Given the description of an element on the screen output the (x, y) to click on. 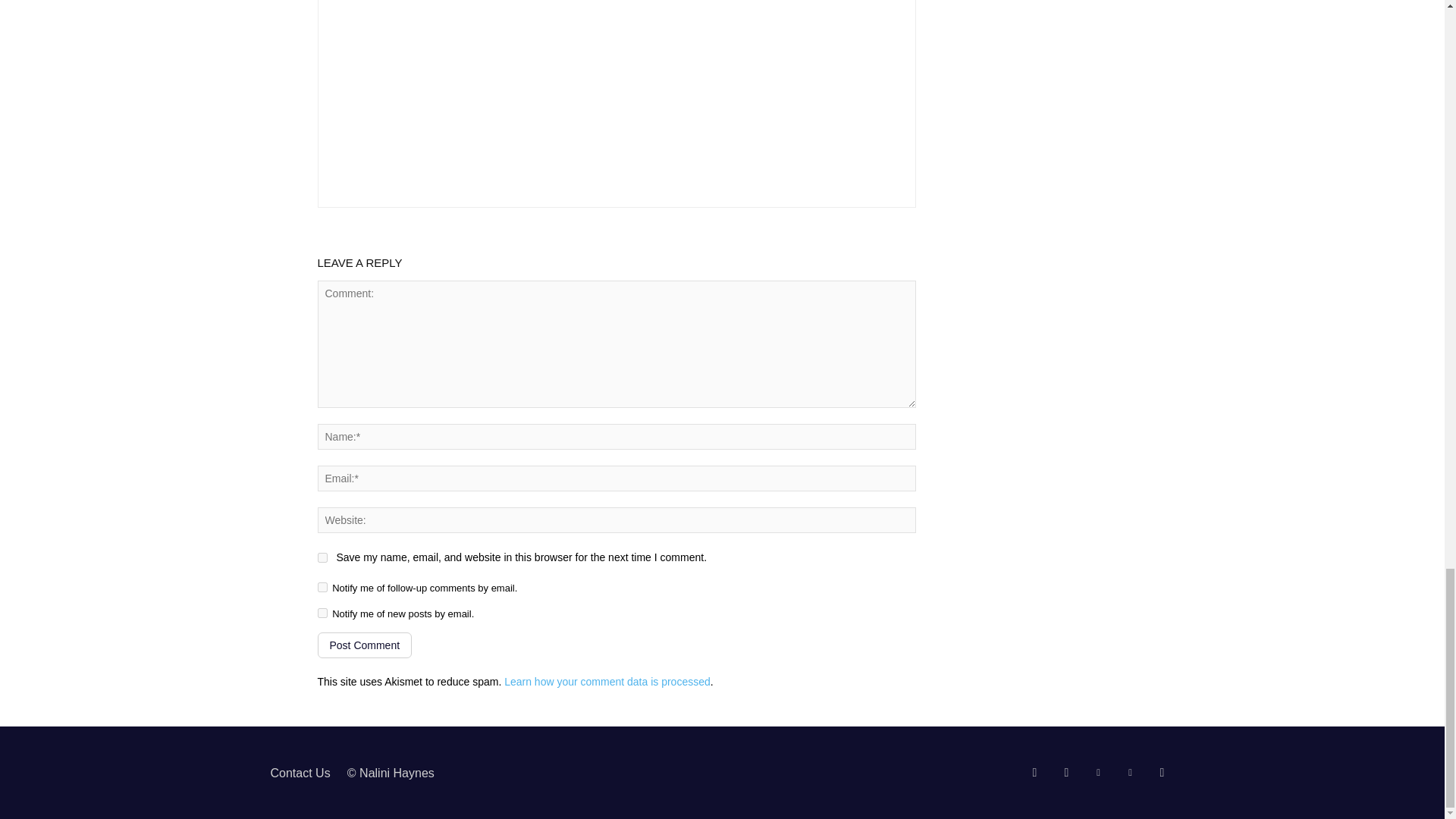
Post Comment (364, 645)
yes (321, 557)
subscribe (321, 613)
subscribe (321, 587)
